Given the description of an element on the screen output the (x, y) to click on. 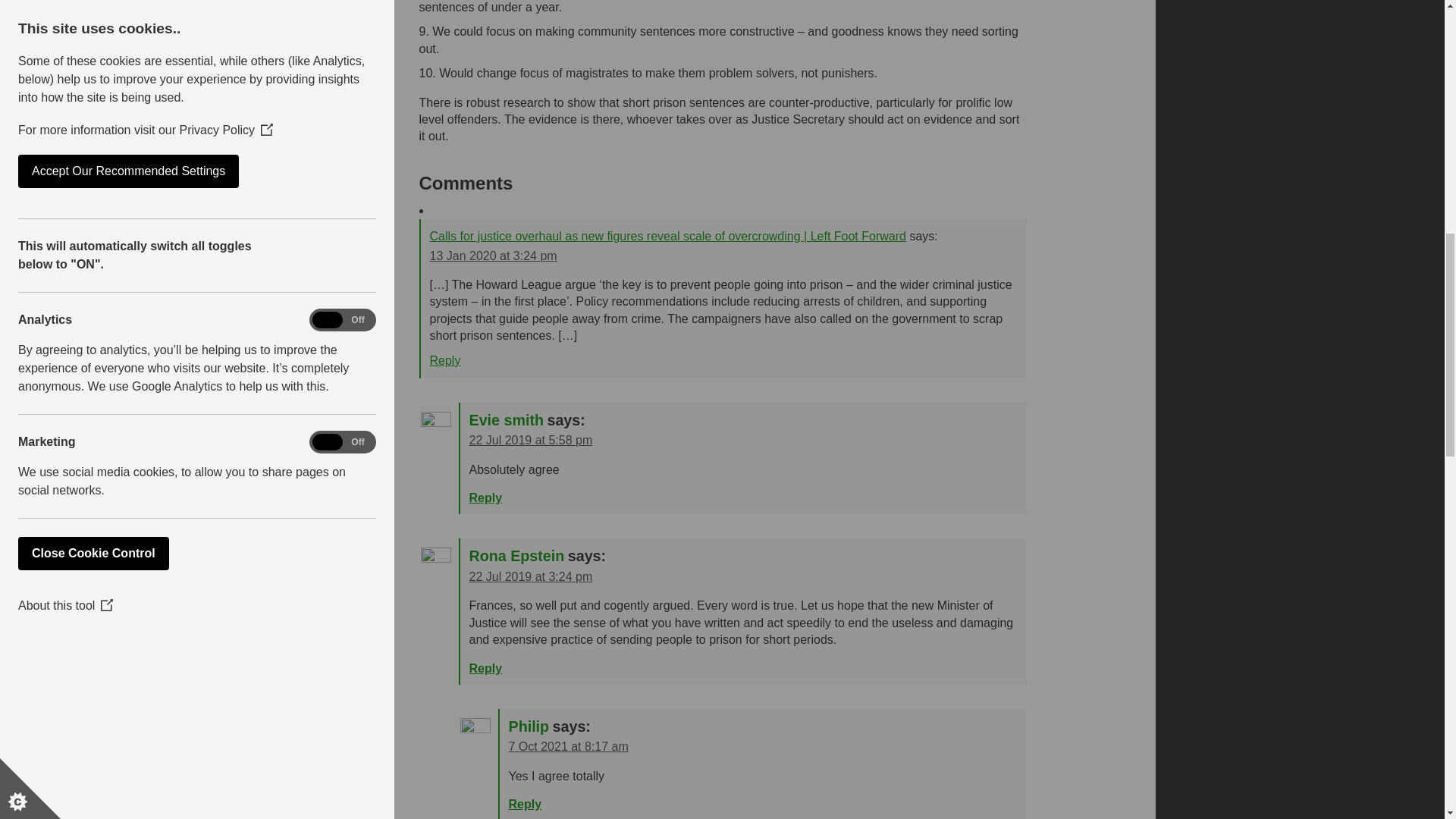
7 Oct 2021 at 8:17 am (567, 746)
22 Jul 2019 at 3:24 pm (530, 576)
13 Jan 2020 at 3:24 pm (492, 255)
Reply (524, 803)
Reply (485, 497)
Reply (485, 667)
22 Jul 2019 at 5:58 pm (530, 440)
Reply (444, 359)
